Given the description of an element on the screen output the (x, y) to click on. 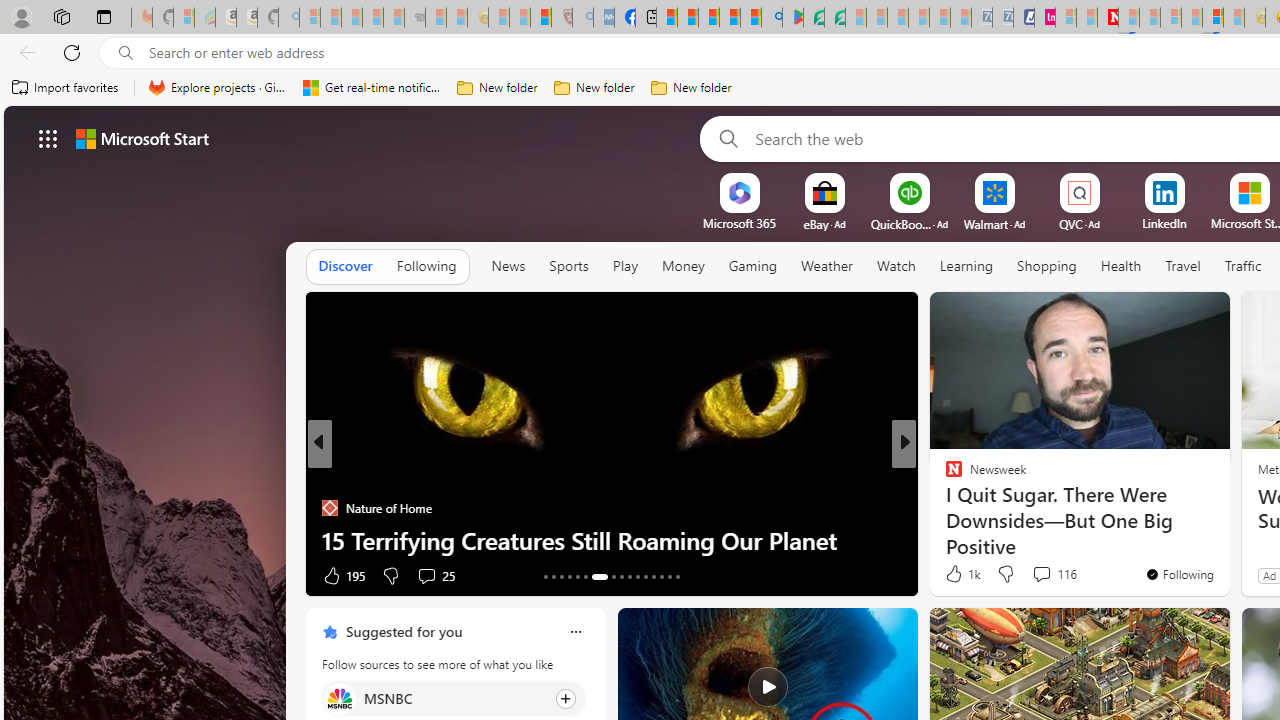
658 Like (959, 574)
Bluey: Let's Play! - Apps on Google Play (792, 17)
MSNBC (338, 697)
69 Like (956, 574)
Terms of Use Agreement (813, 17)
Play (625, 265)
View comments 25 Comment (435, 574)
New Report Confirms 2023 Was Record Hot | Watch - Sleeping (394, 17)
AutomationID: tab-25 (652, 576)
Health Digest (944, 507)
34 Like (956, 574)
